Given the description of an element on the screen output the (x, y) to click on. 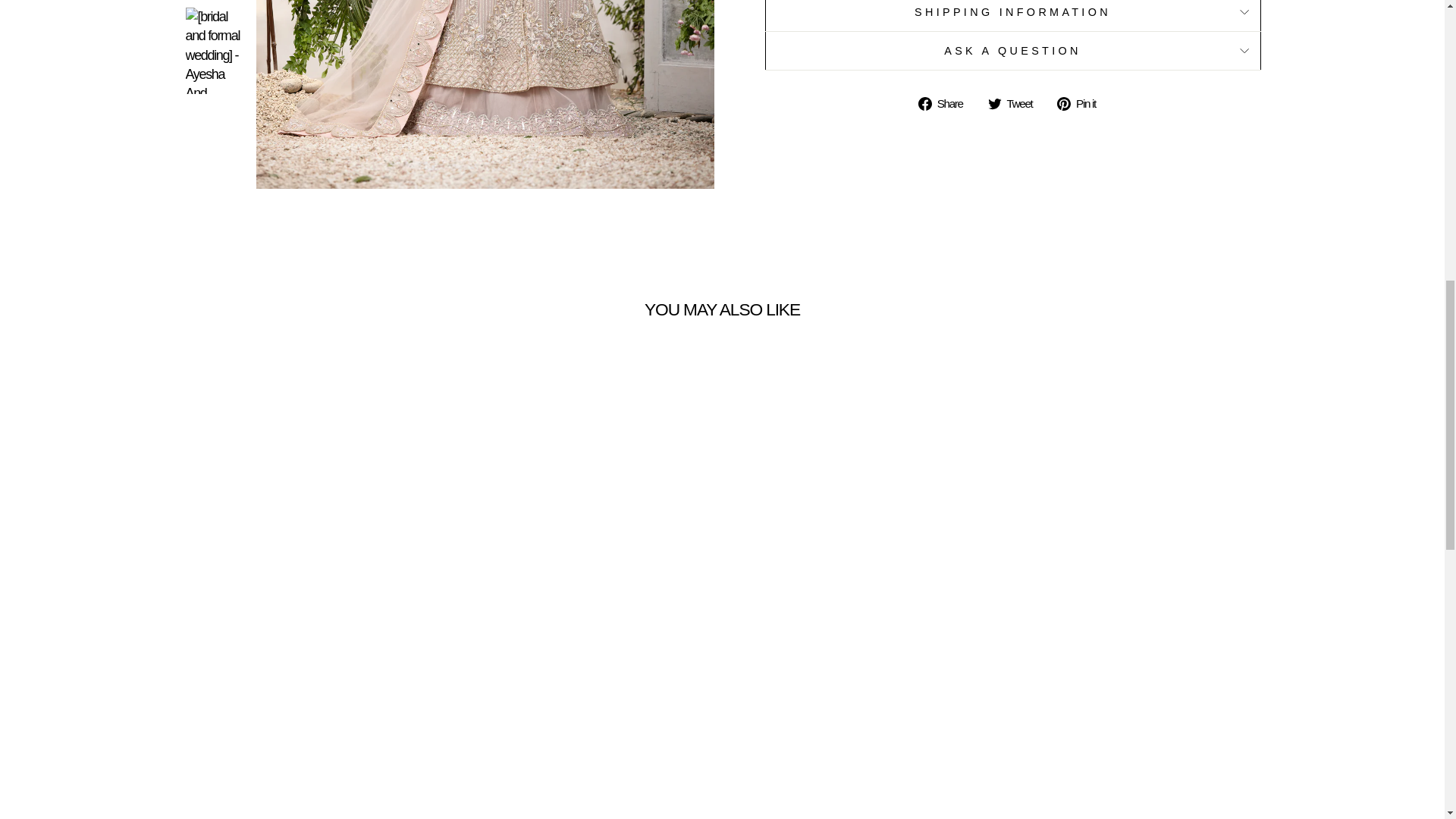
Tweet on Twitter (1015, 102)
Pin on Pinterest (1081, 102)
Share on Facebook (946, 102)
twitter (994, 103)
